Given the description of an element on the screen output the (x, y) to click on. 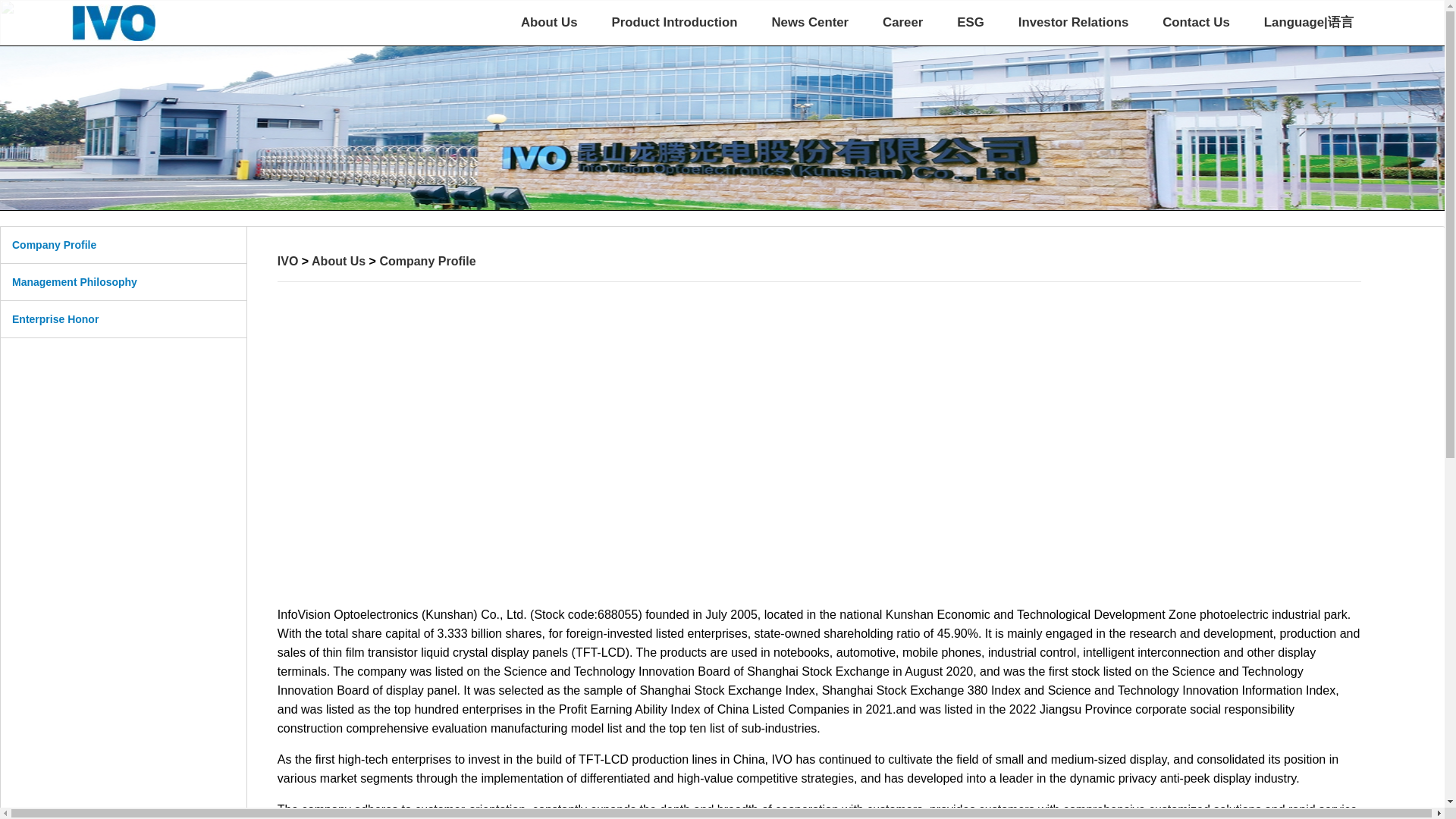
News Center (809, 22)
Contact Us (1195, 22)
About Us (549, 22)
Product Introduction (673, 22)
Investor Relations (1072, 22)
